Given the description of an element on the screen output the (x, y) to click on. 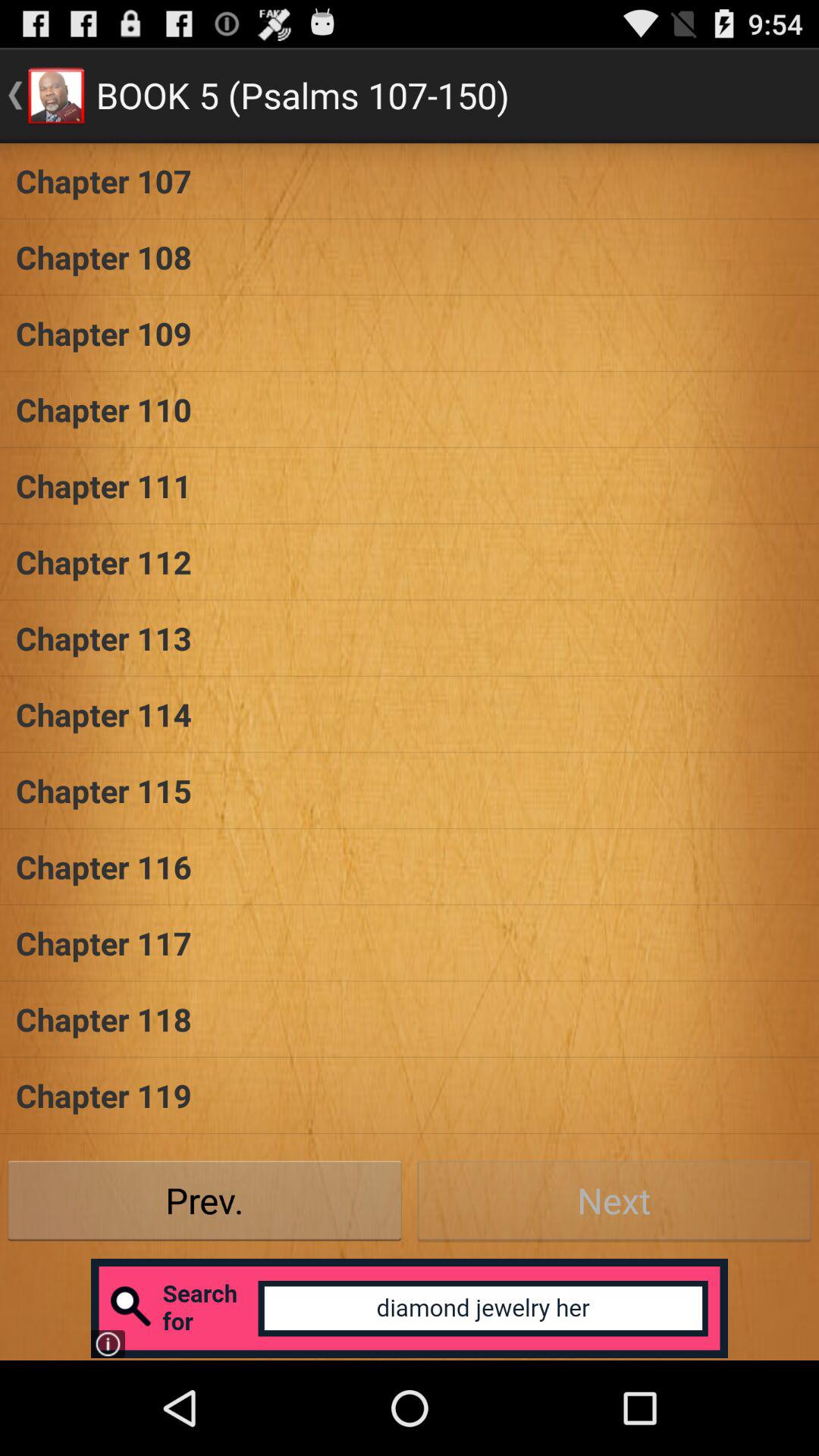
advertisement (409, 1308)
